Given the description of an element on the screen output the (x, y) to click on. 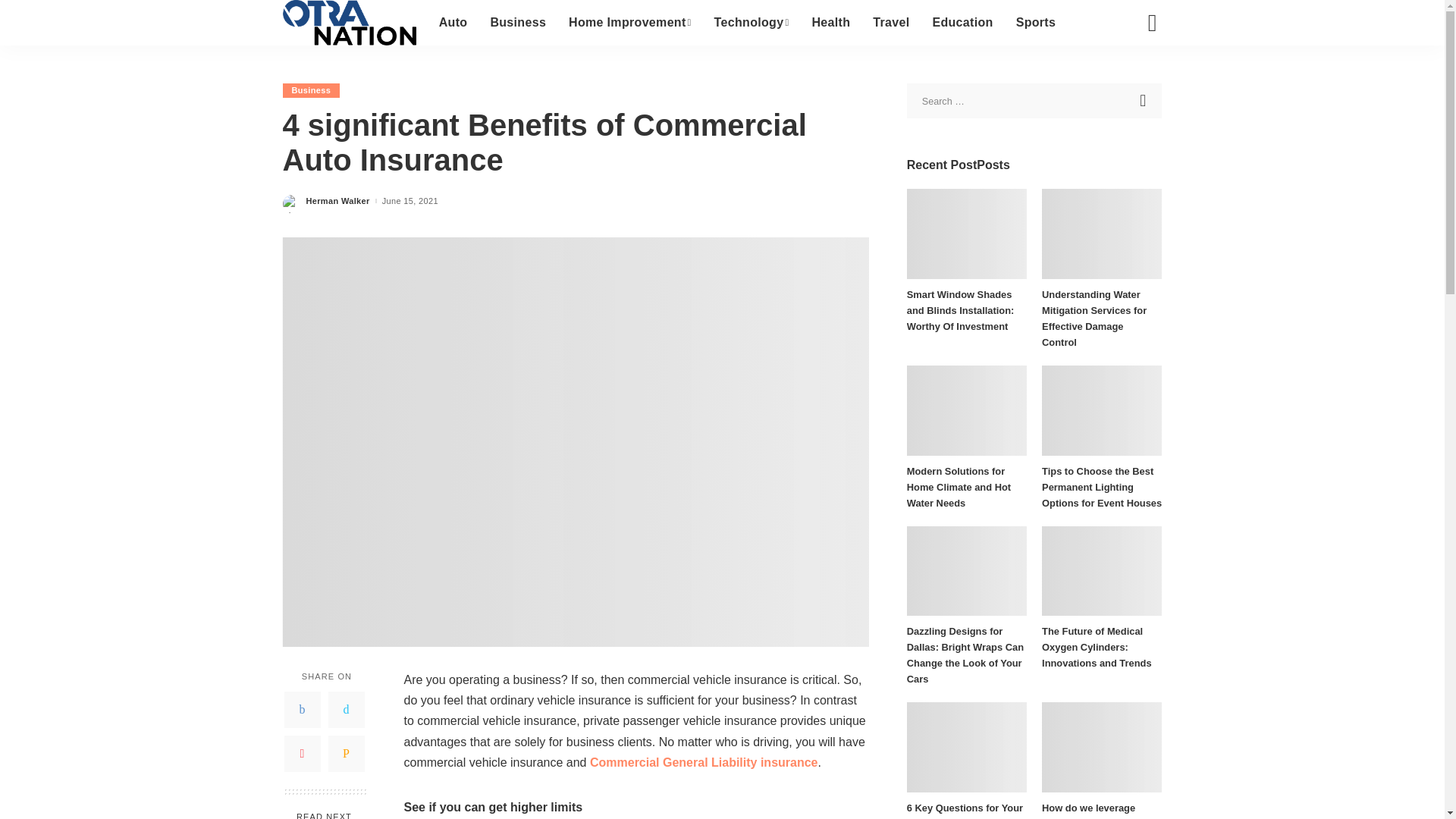
Twitter (345, 709)
Travel (890, 22)
Search (1140, 76)
Email (345, 753)
Commercial General Liability insurance (703, 762)
Health (830, 22)
Pinterest (301, 753)
Business (518, 22)
Home Improvement (630, 22)
Technology (751, 22)
